Given the description of an element on the screen output the (x, y) to click on. 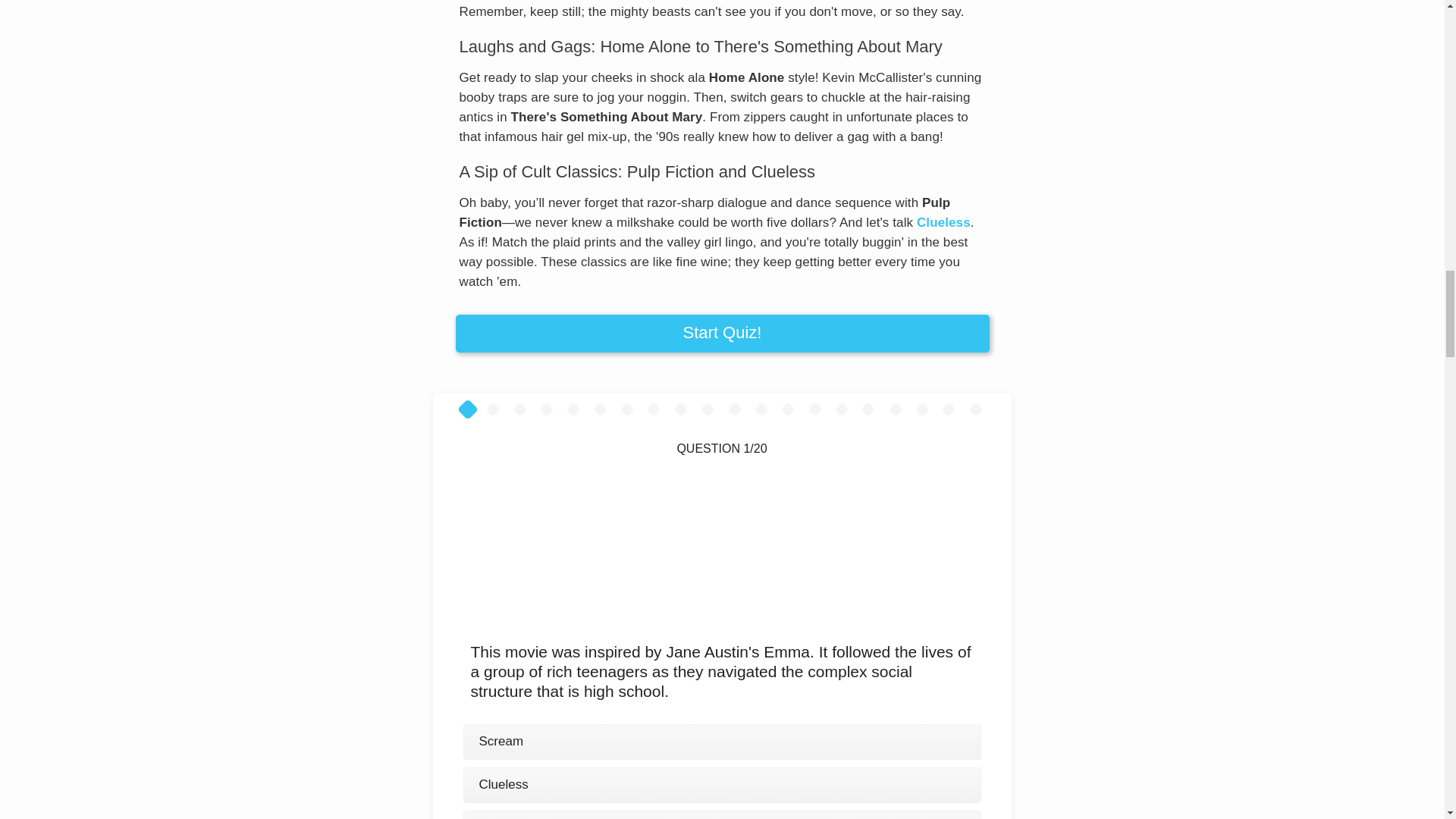
Start Quiz! (721, 333)
